Given the description of an element on the screen output the (x, y) to click on. 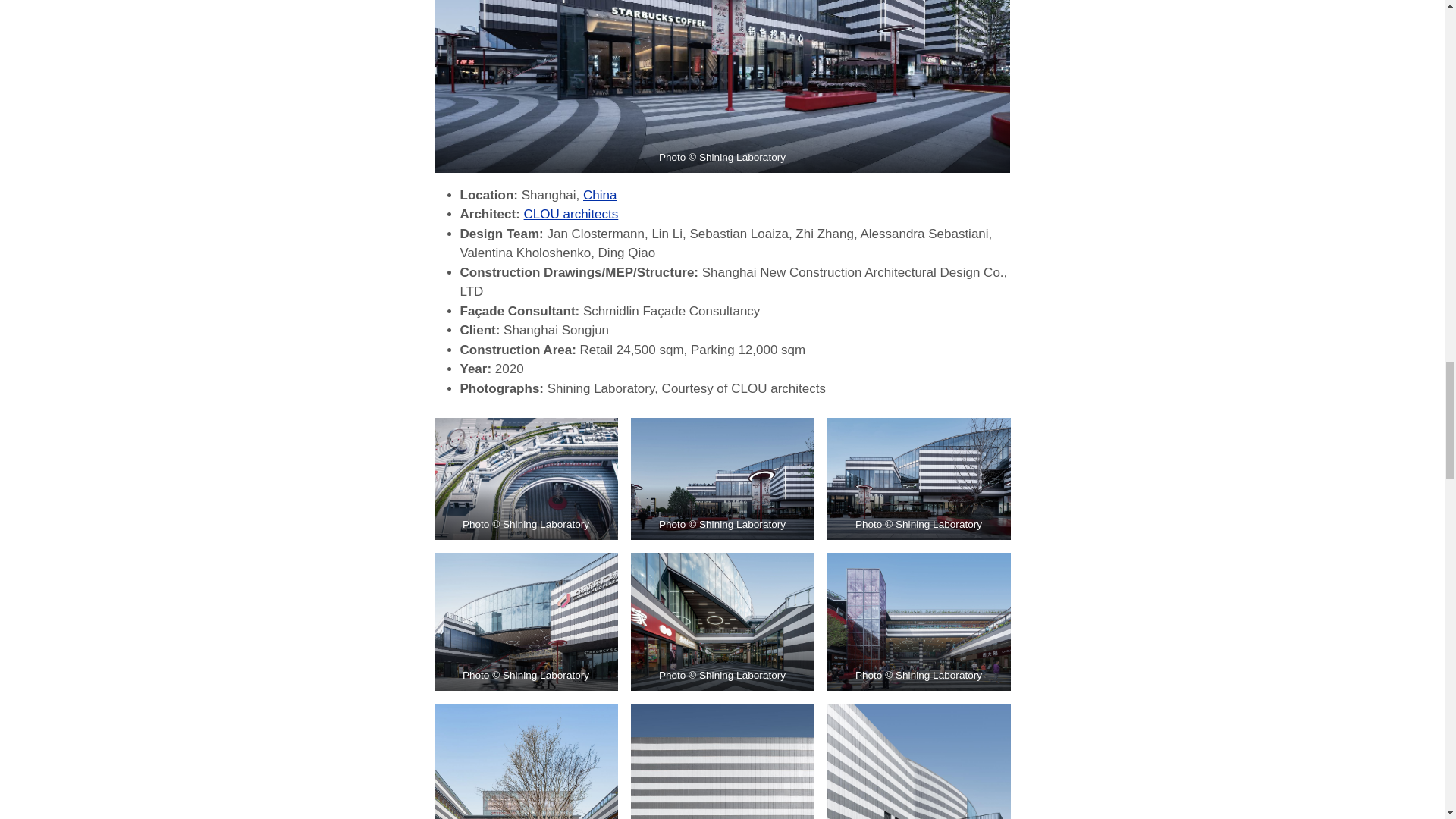
CLOU architects (571, 214)
China (599, 195)
